Given the description of an element on the screen output the (x, y) to click on. 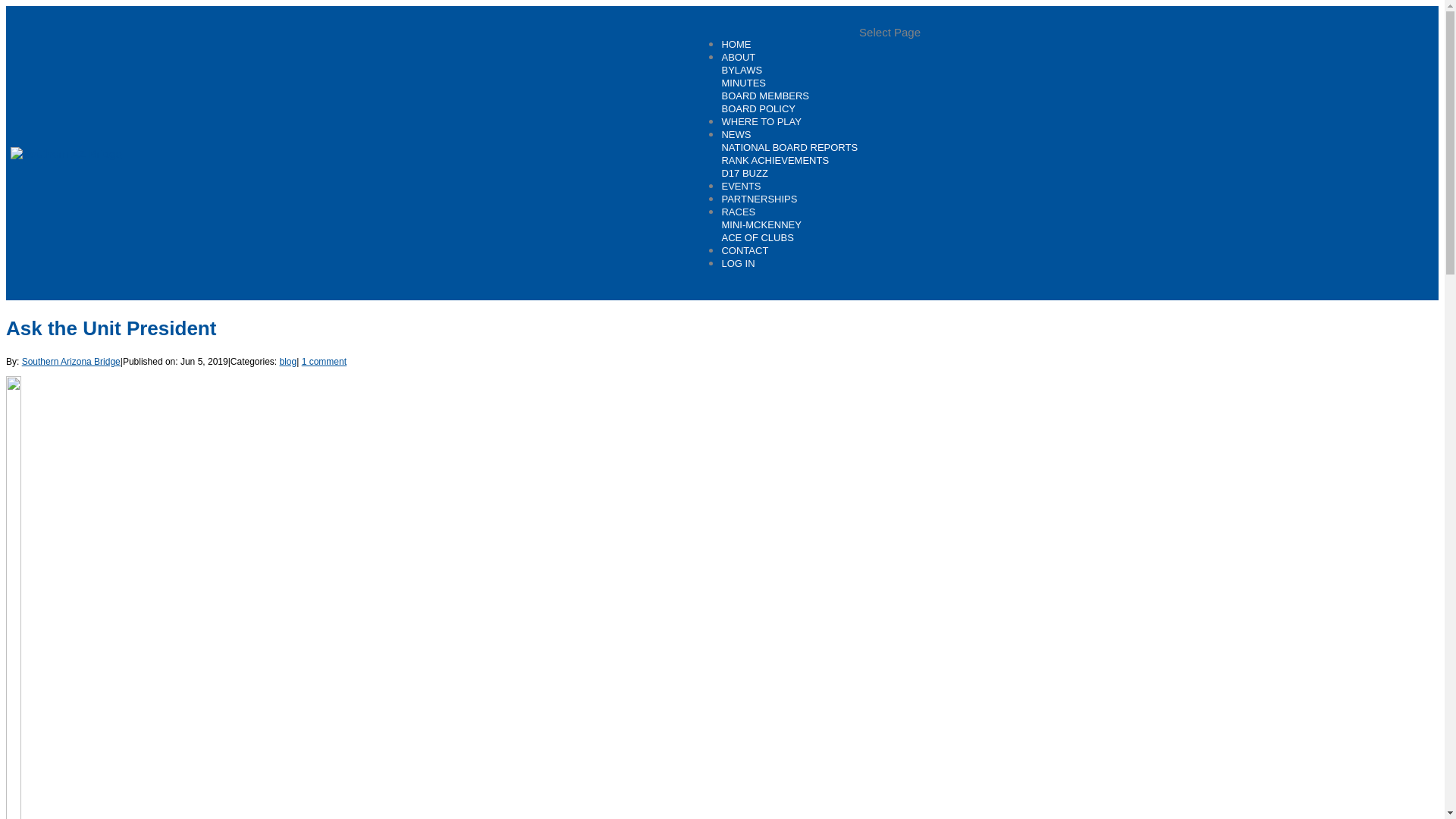
ACE OF CLUBS (756, 237)
RANK ACHIEVEMENTS (774, 160)
1 comment (323, 361)
WHERE TO PLAY (760, 129)
D17 BUZZ (743, 173)
LOG IN (737, 270)
MINUTES (742, 82)
EVENTS (740, 193)
Posts by Southern Arizona Bridge (70, 361)
BOARD POLICY (757, 108)
